Given the description of an element on the screen output the (x, y) to click on. 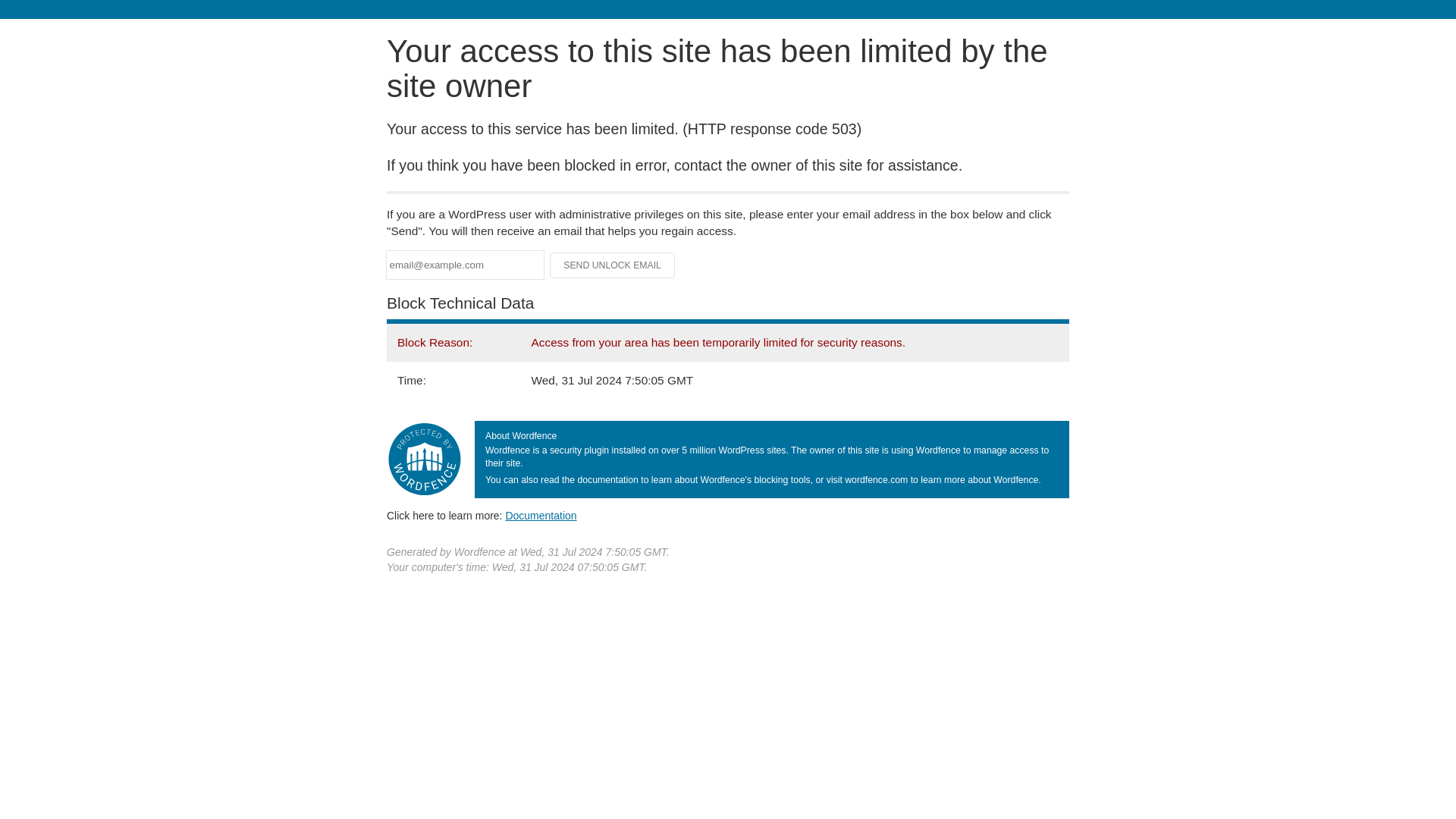
Send Unlock Email (612, 265)
Send Unlock Email (612, 265)
Documentation (540, 515)
